Given the description of an element on the screen output the (x, y) to click on. 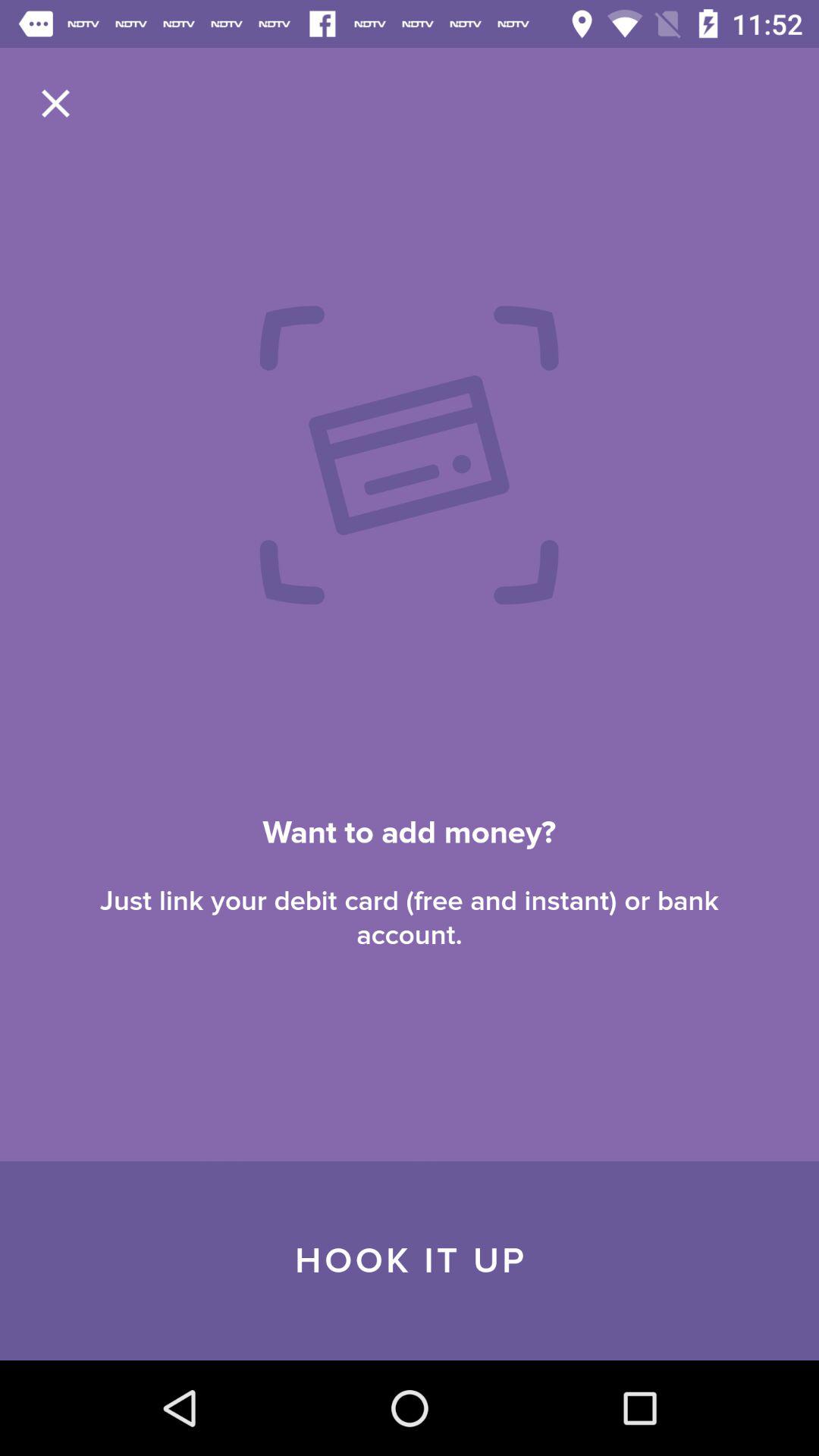
select item at the top left corner (55, 103)
